Given the description of an element on the screen output the (x, y) to click on. 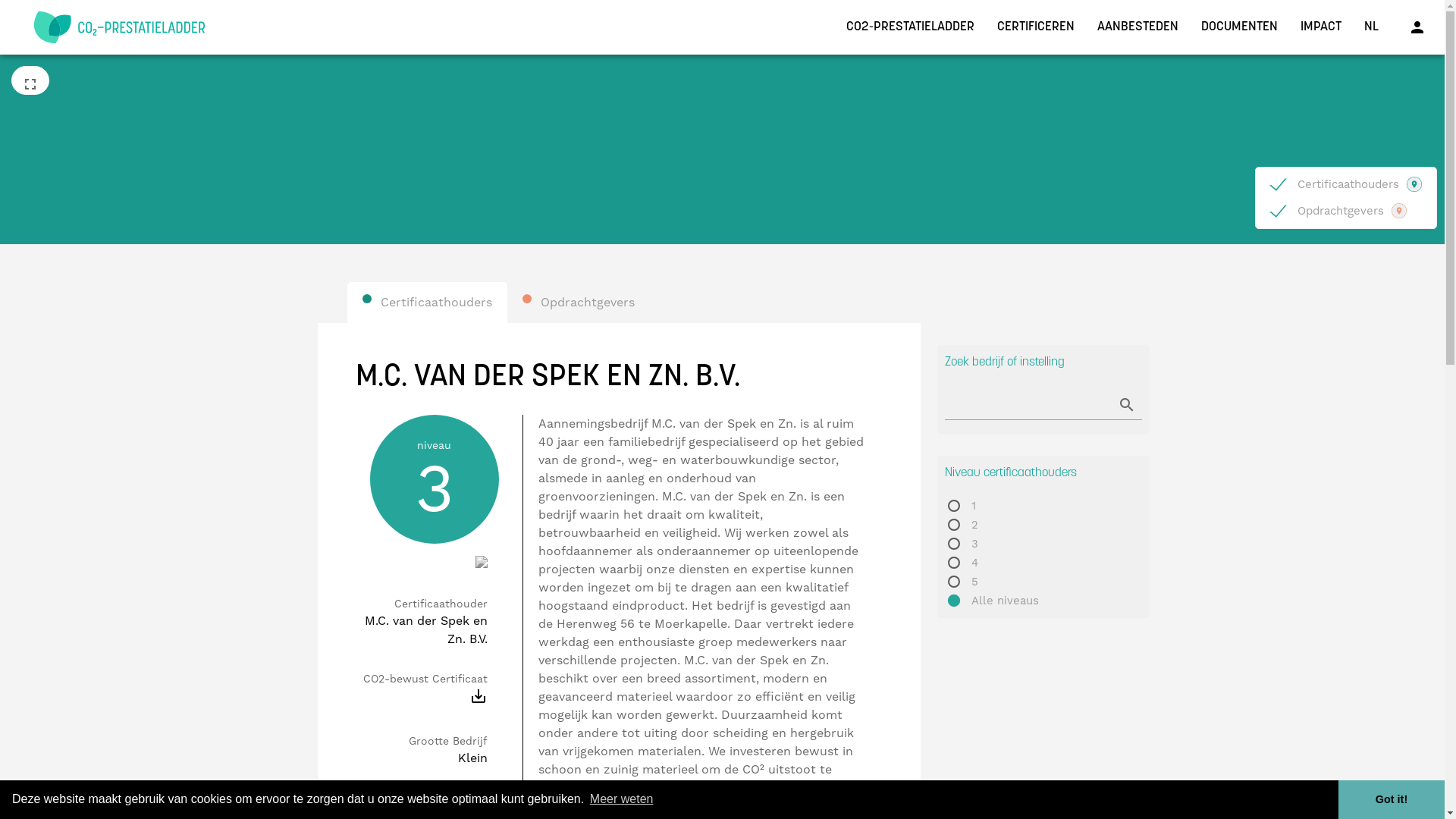
on Element type: text (1275, 206)
DOCUMENTEN Element type: text (1239, 25)
5 Element type: text (1043, 581)
1 Element type: text (1043, 505)
IMPACT Element type: text (1320, 25)
NL Element type: text (1371, 25)
fullscreen Element type: text (30, 79)
save_alt Element type: text (478, 700)
CERTIFICEREN Element type: text (1035, 25)
CO2-PRESTATIELADDER Element type: text (909, 25)
person Element type: text (1417, 27)
4 Element type: text (1043, 562)
2 Element type: text (1043, 524)
important_devices Element type: text (478, 804)
Alle niveaus Element type: text (1043, 600)
on Element type: text (1275, 180)
Meer weten Element type: text (621, 798)
AANBESTEDEN Element type: text (1137, 25)
3 Element type: text (1043, 543)
